Given the description of an element on the screen output the (x, y) to click on. 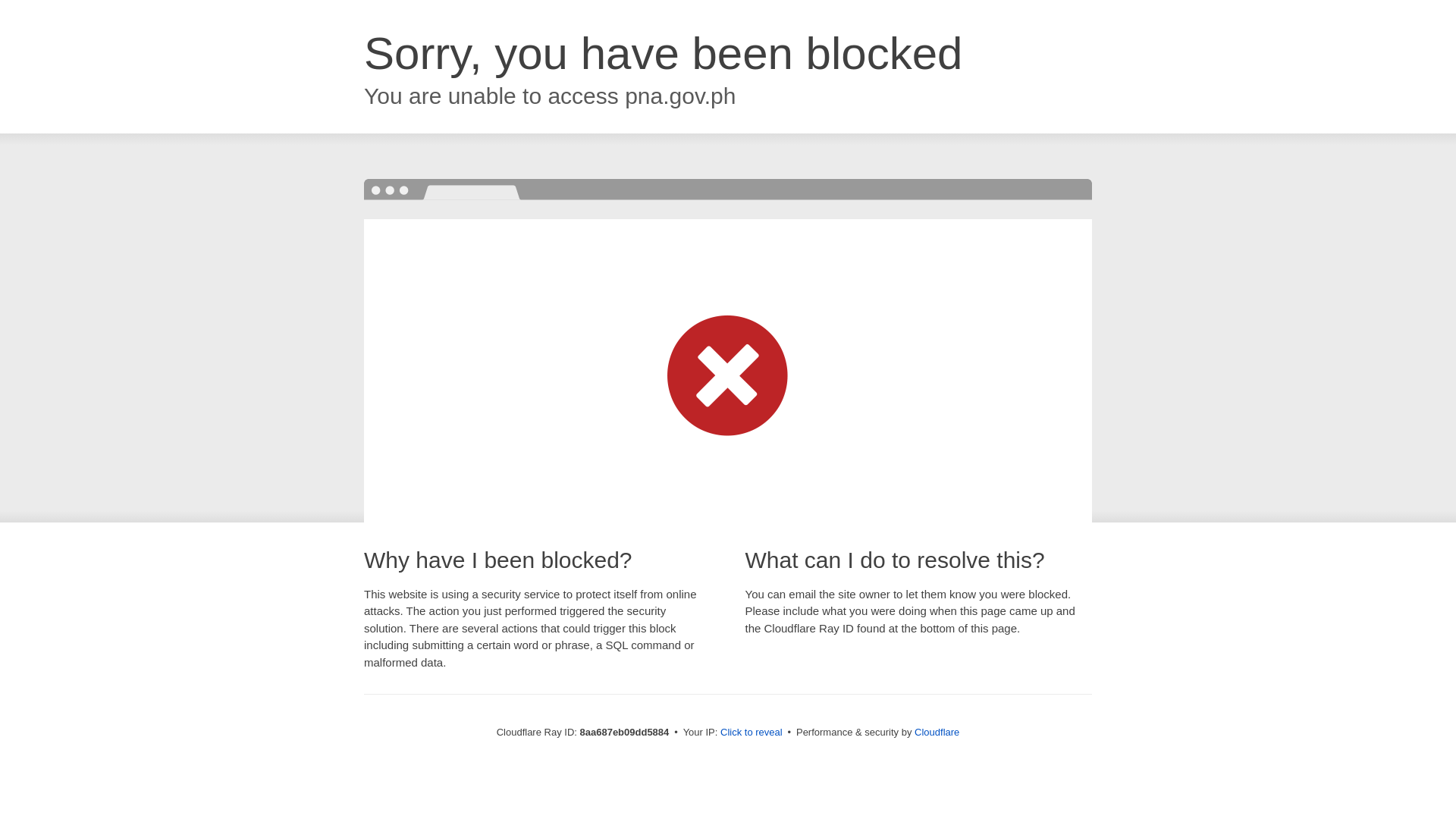
Cloudflare (936, 731)
Click to reveal (751, 732)
